Given the description of an element on the screen output the (x, y) to click on. 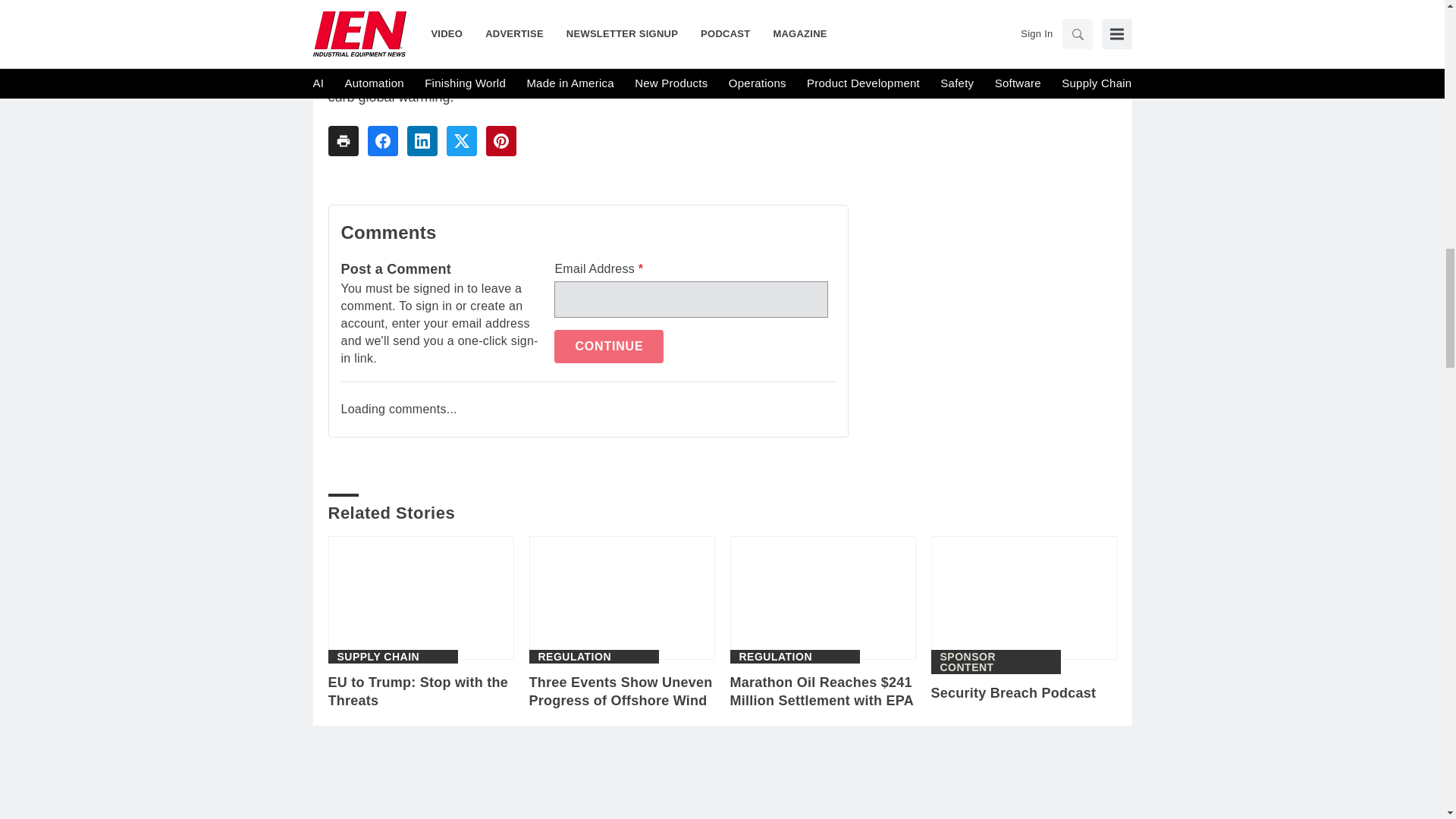
Share To pinterest (499, 141)
Share To print (342, 141)
Share To linkedin (421, 141)
Share To twitter (460, 141)
Share To facebook (381, 141)
